Given the description of an element on the screen output the (x, y) to click on. 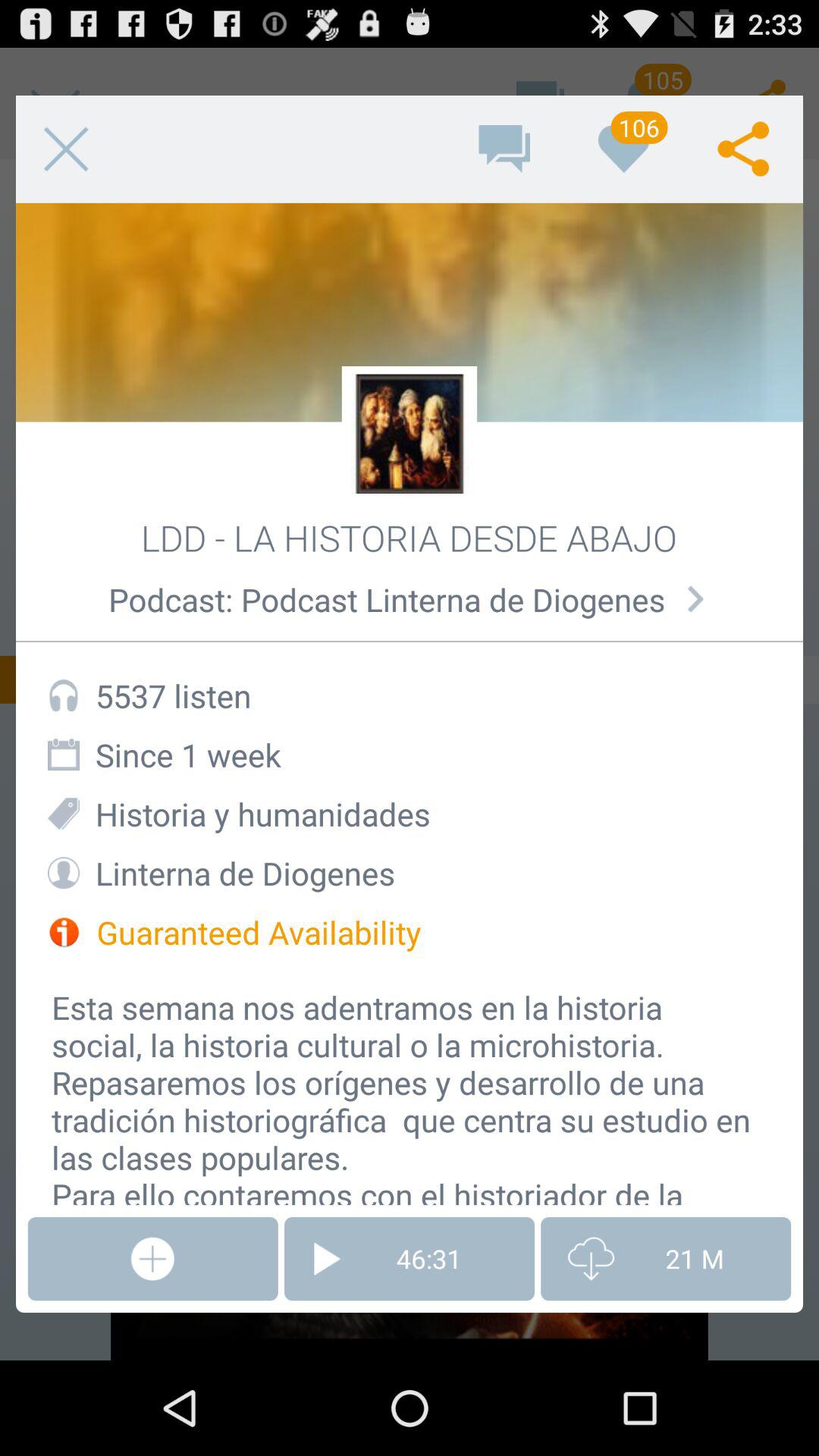
turn on the 21 m (665, 1258)
